Given the description of an element on the screen output the (x, y) to click on. 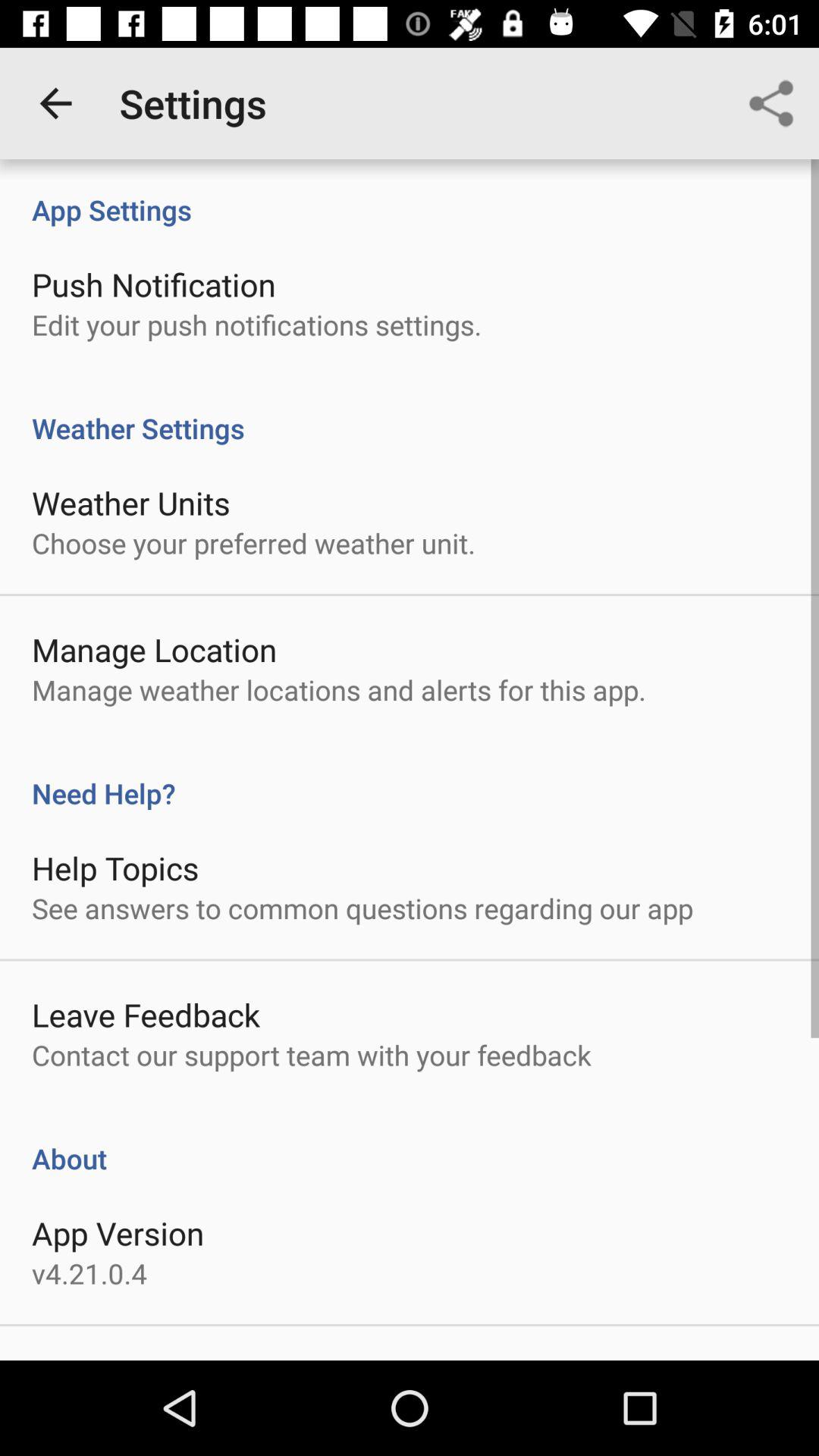
select icon below app settings icon (153, 283)
